Given the description of an element on the screen output the (x, y) to click on. 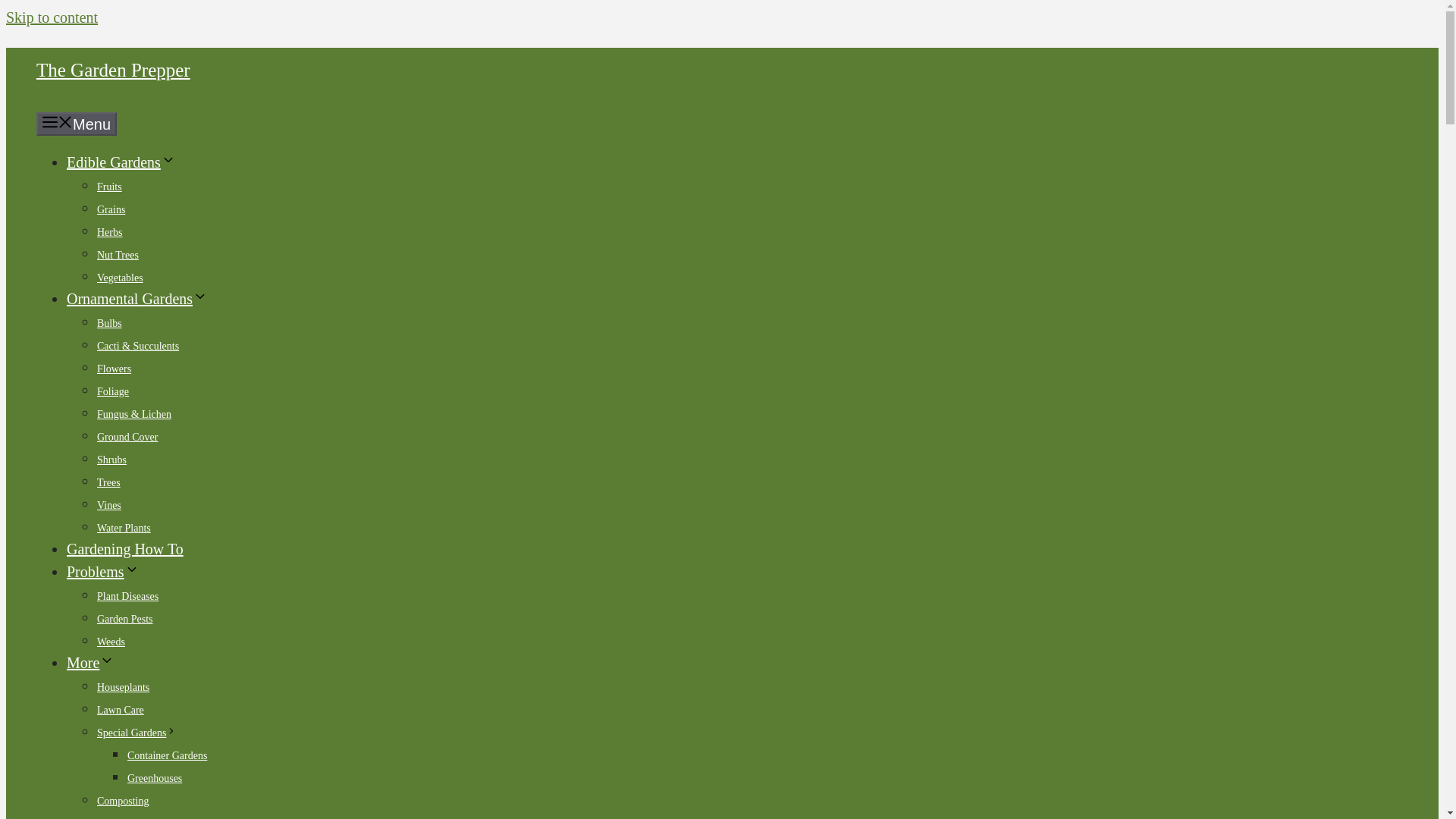
Plant Diseases (127, 595)
The Garden Prepper (113, 69)
Vines (108, 505)
Trees (108, 482)
Skip to content (51, 17)
Problems (102, 571)
Greenhouses (155, 778)
Container Gardens (167, 755)
Foliage (113, 391)
Vegetables (119, 277)
